Given the description of an element on the screen output the (x, y) to click on. 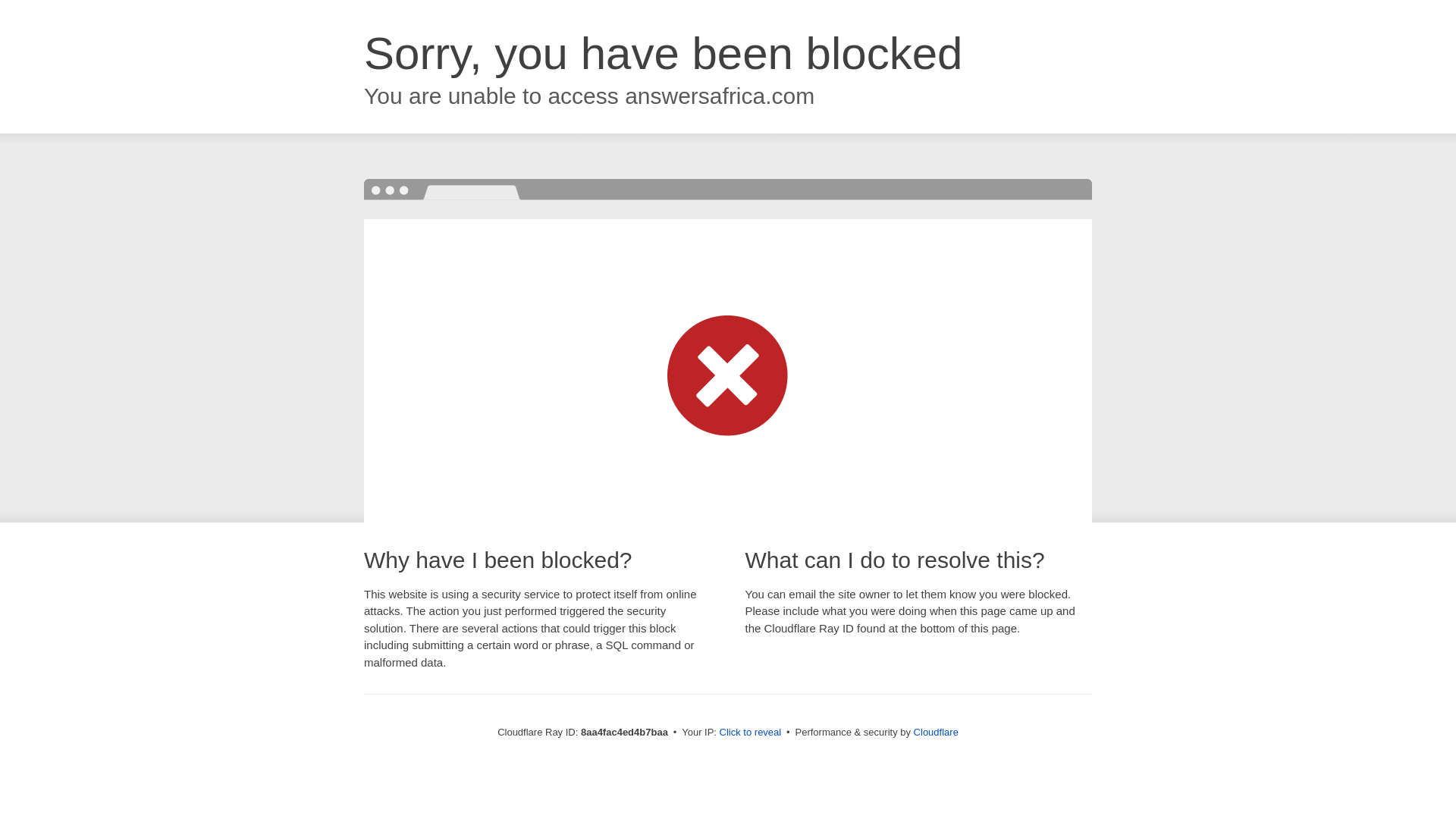
Click to reveal (750, 732)
Cloudflare (936, 731)
